Given the description of an element on the screen output the (x, y) to click on. 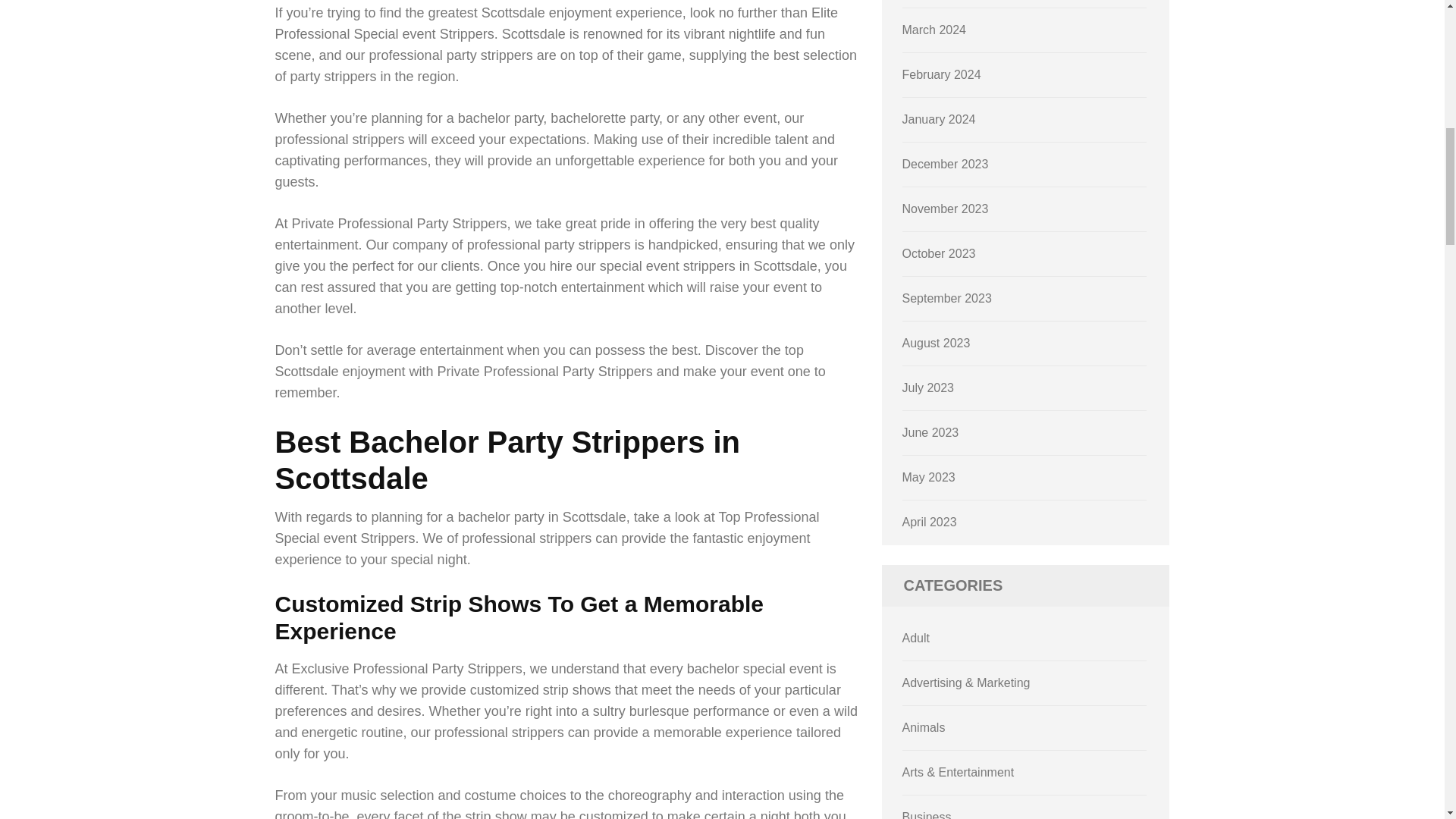
August 2023 (936, 342)
January 2024 (938, 119)
February 2024 (941, 74)
April 2023 (929, 521)
March 2024 (934, 29)
June 2023 (930, 431)
July 2023 (928, 387)
May 2023 (928, 477)
Adult (916, 637)
September 2023 (946, 297)
October 2023 (938, 253)
December 2023 (945, 164)
November 2023 (945, 208)
